Given the description of an element on the screen output the (x, y) to click on. 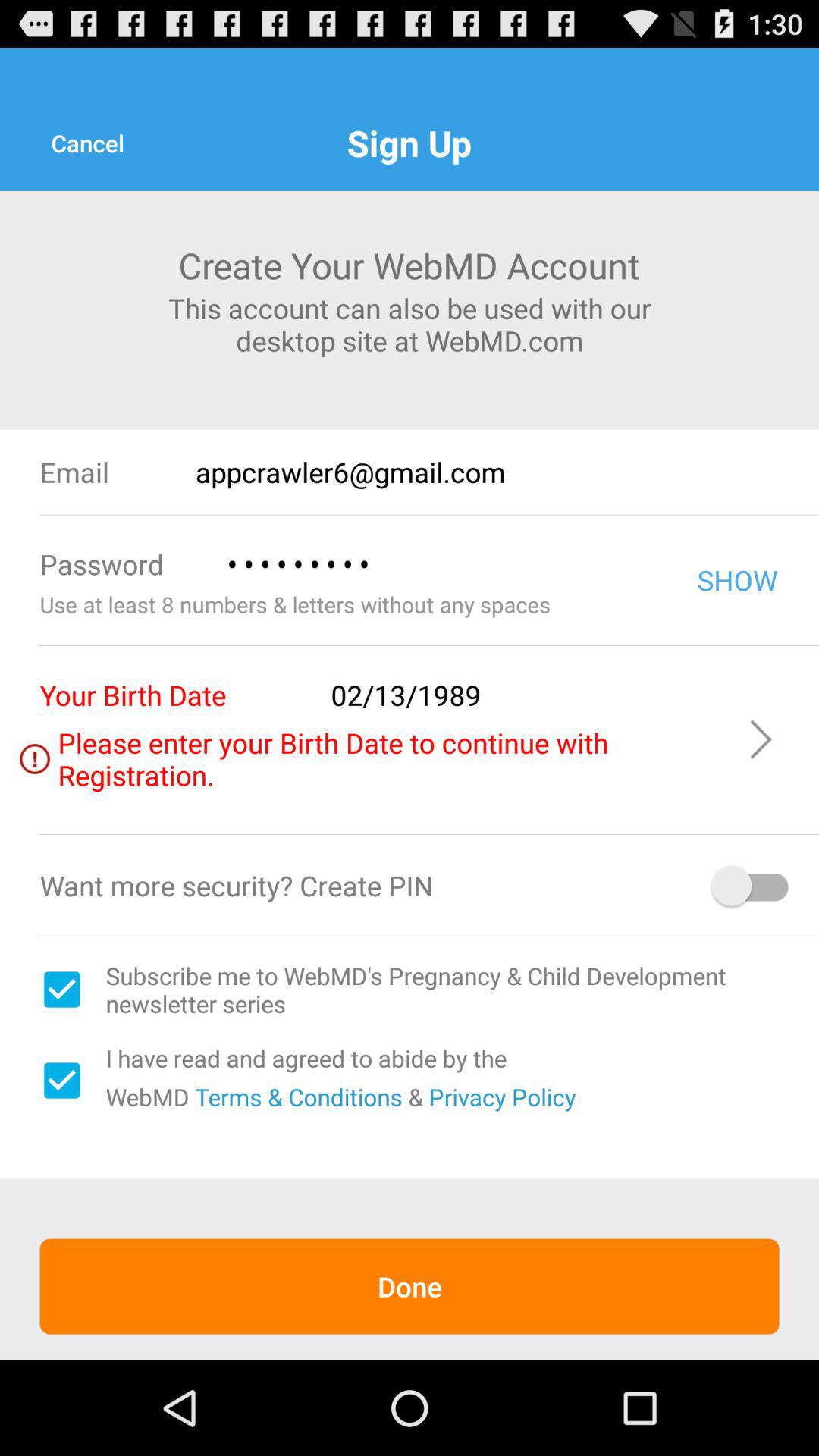
select terms and conditions acceptance (61, 1080)
